Given the description of an element on the screen output the (x, y) to click on. 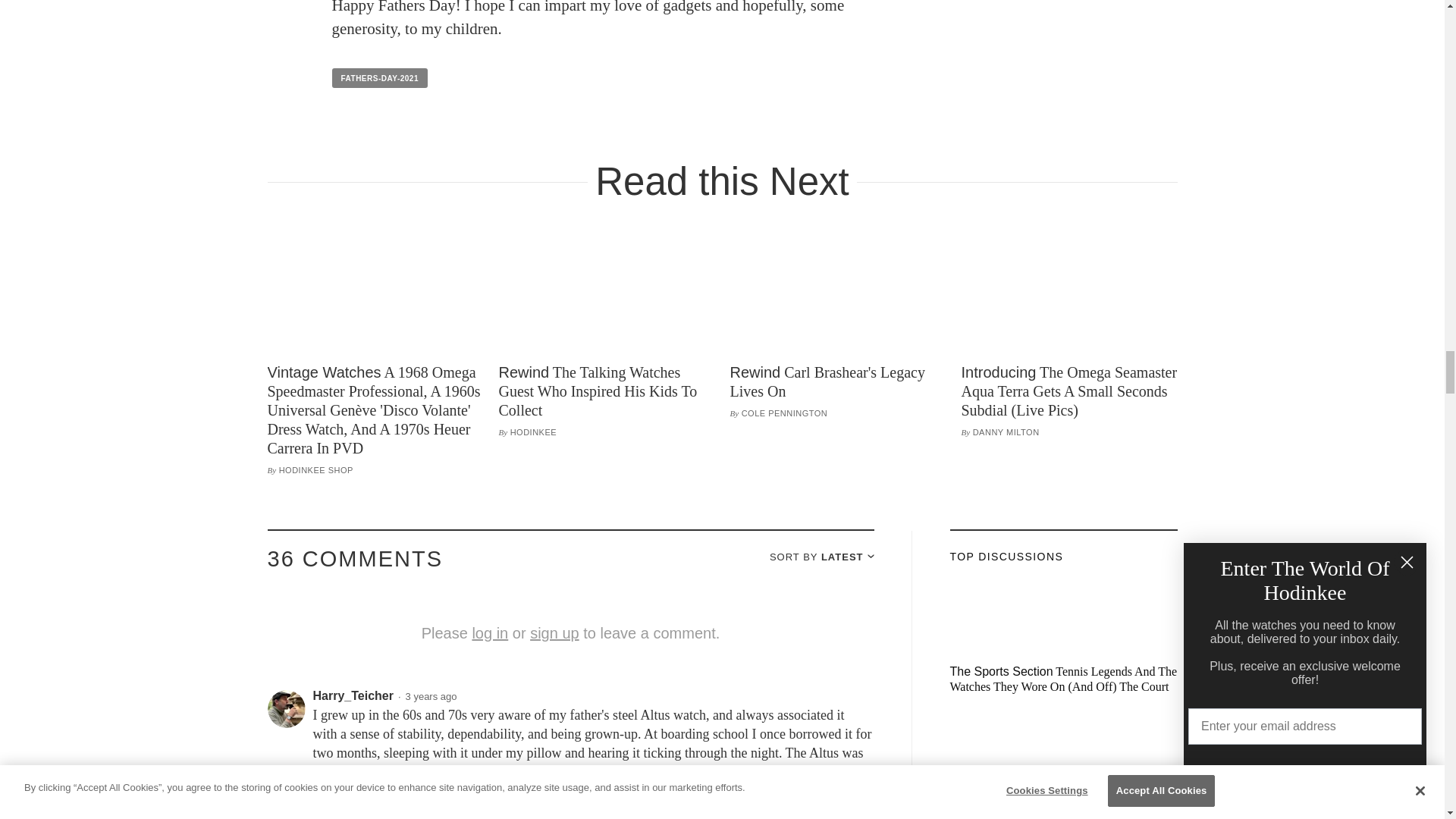
2021-06-20 16:37 (431, 696)
